Given the description of an element on the screen output the (x, y) to click on. 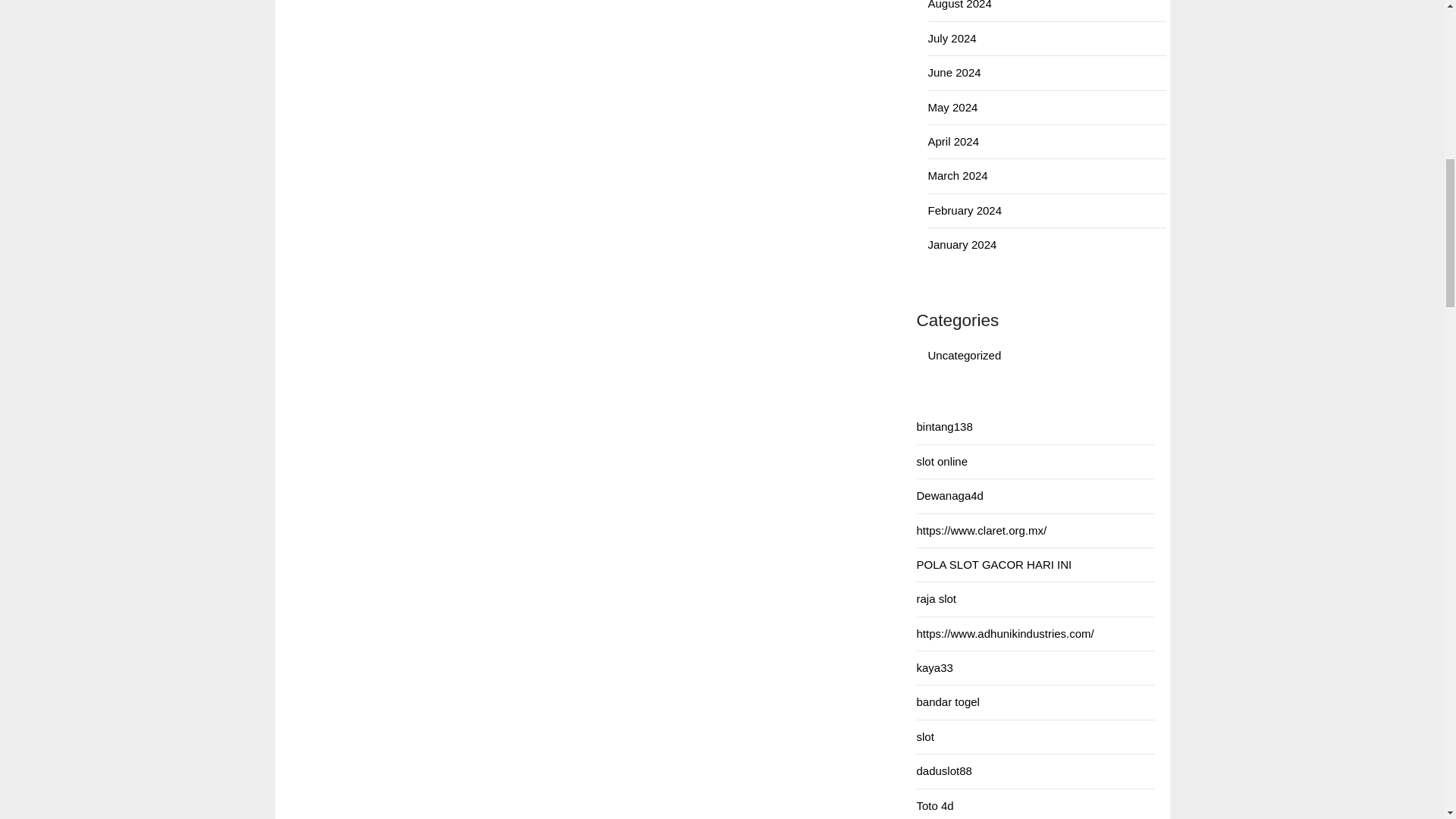
July 2024 (952, 38)
January 2024 (962, 244)
May 2024 (953, 106)
March 2024 (958, 174)
February 2024 (965, 210)
Uncategorized (964, 354)
bintang138 (943, 426)
April 2024 (953, 141)
August 2024 (959, 4)
kaya33 (933, 667)
